Given the description of an element on the screen output the (x, y) to click on. 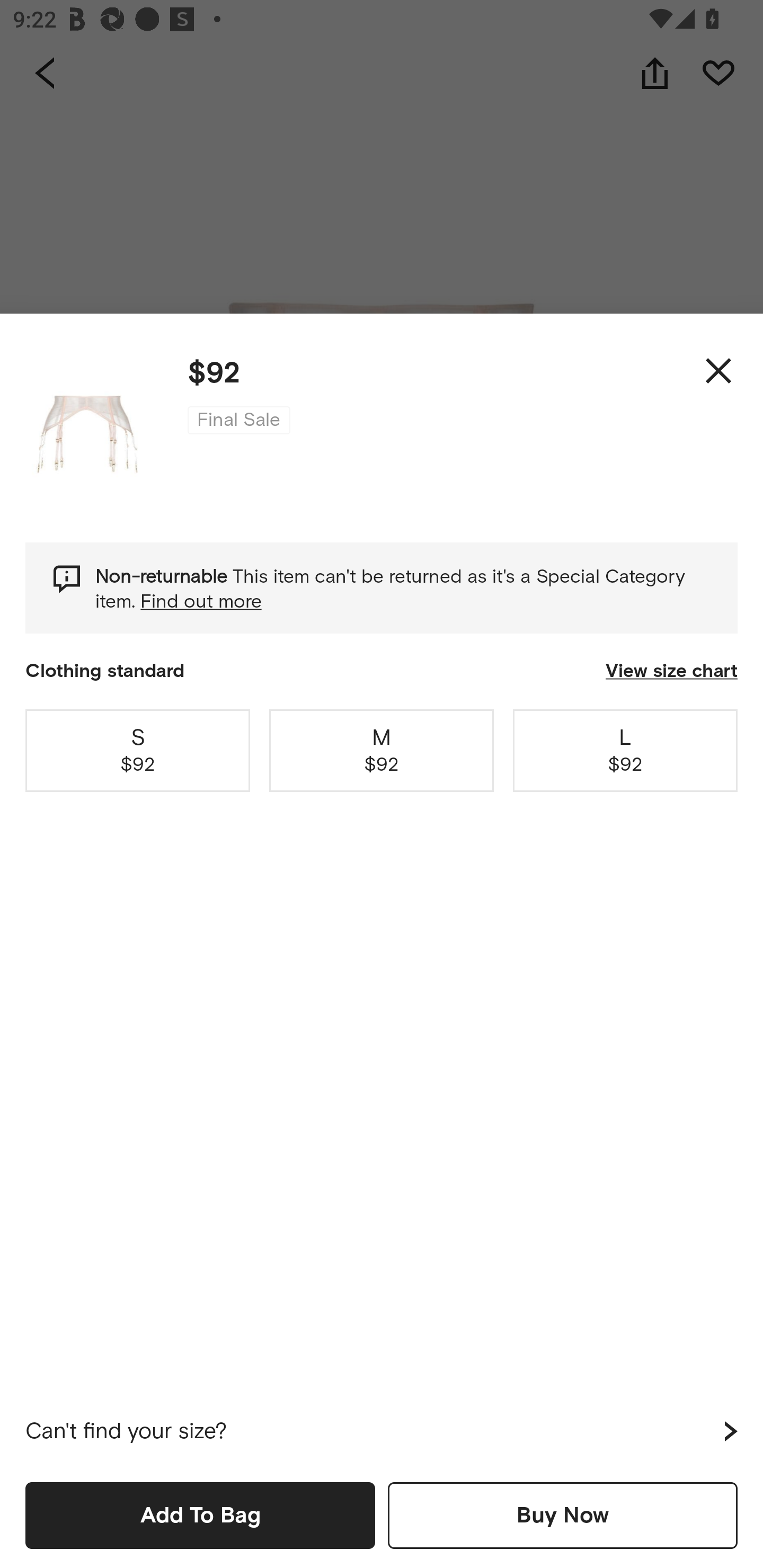
S $92 (137, 749)
M $92 (381, 749)
L $92 (624, 749)
Can't find your size? (381, 1431)
Add To Bag (200, 1515)
Buy Now (562, 1515)
